Given the description of an element on the screen output the (x, y) to click on. 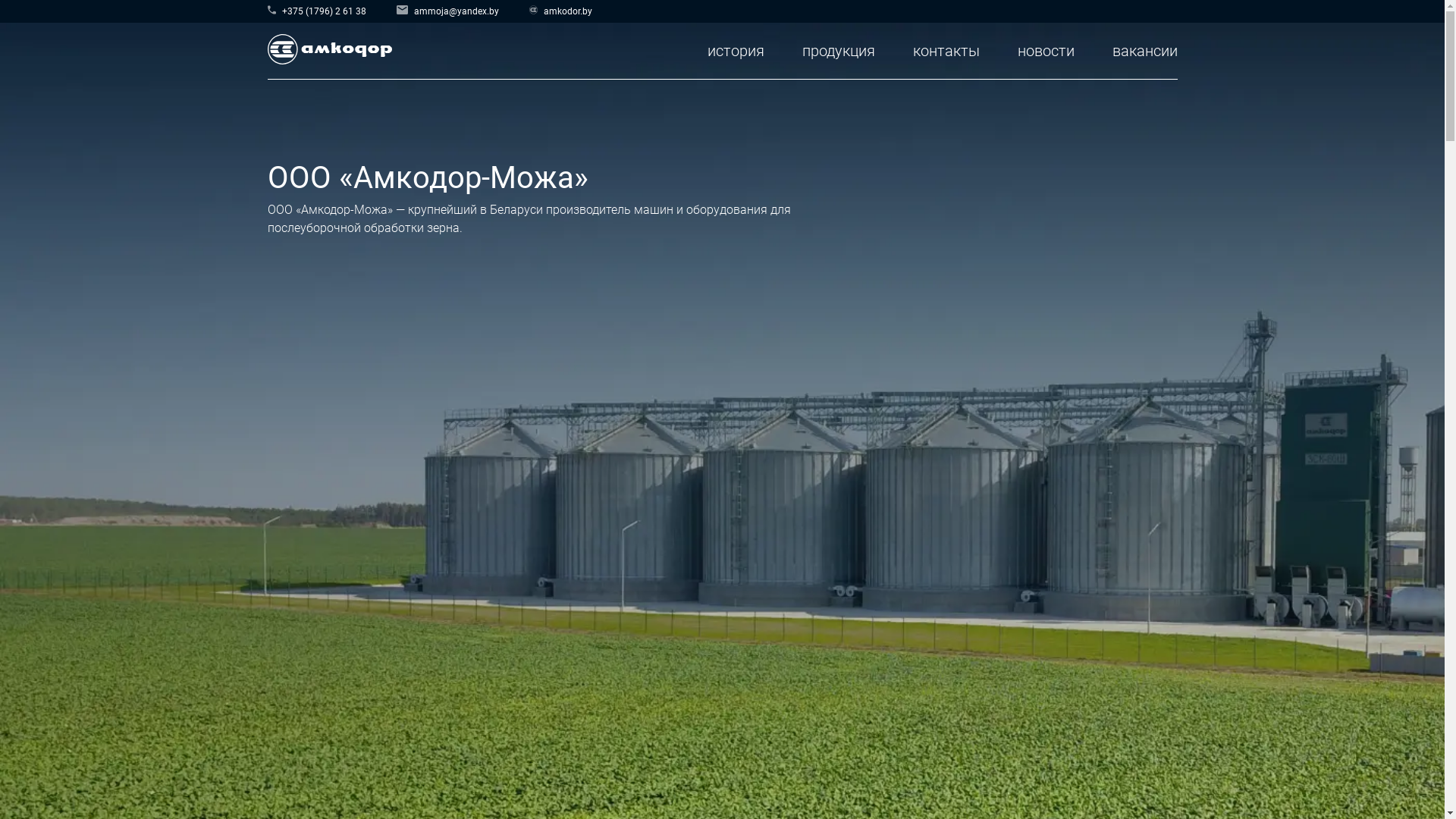
+375 (1796) 2 61 38 Element type: text (315, 8)
ammoja@yandex.by Element type: text (447, 8)
amkodor.by Element type: text (560, 8)
